Given the description of an element on the screen output the (x, y) to click on. 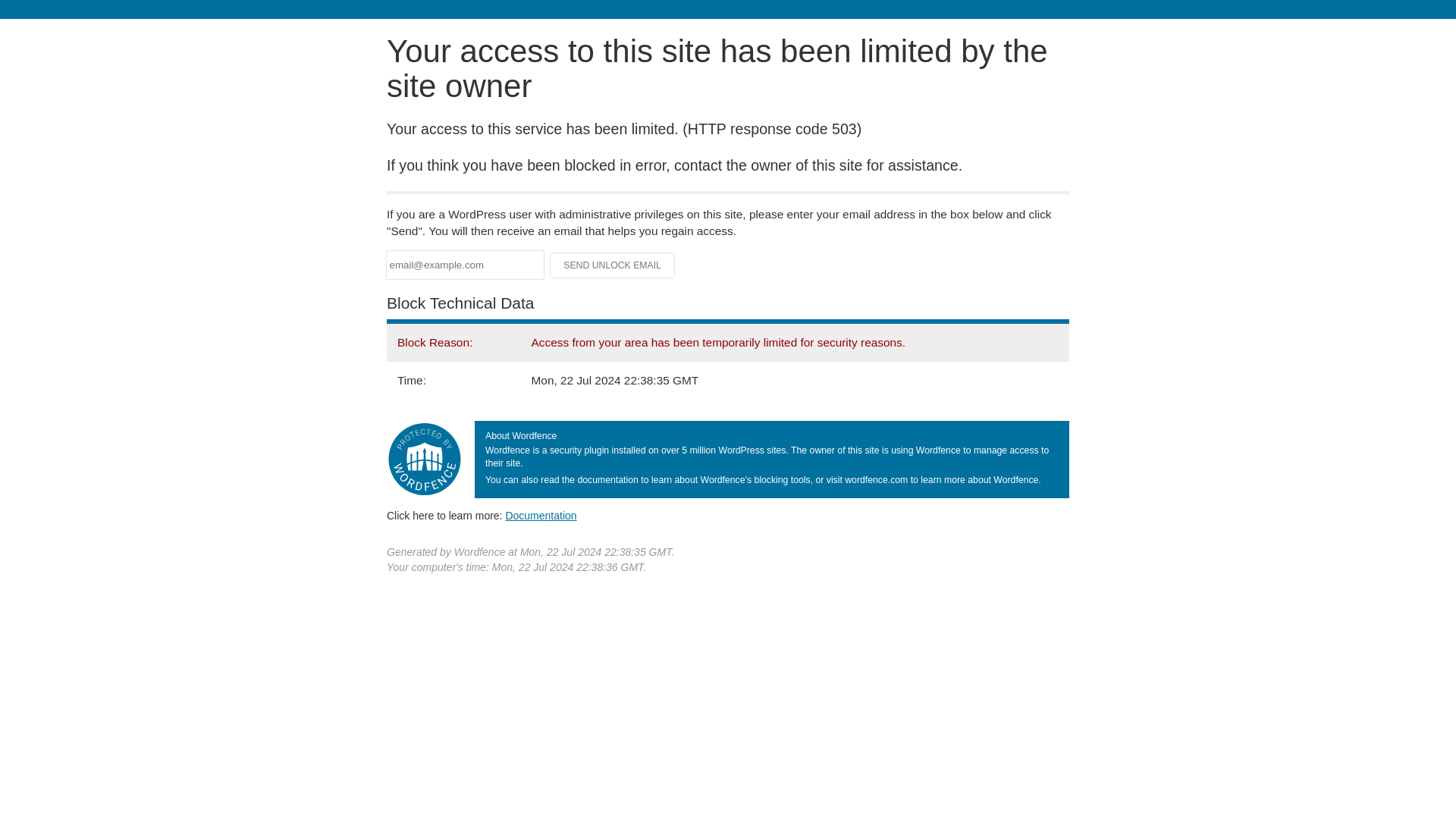
Send Unlock Email (612, 265)
Documentation (540, 515)
Send Unlock Email (612, 265)
